Given the description of an element on the screen output the (x, y) to click on. 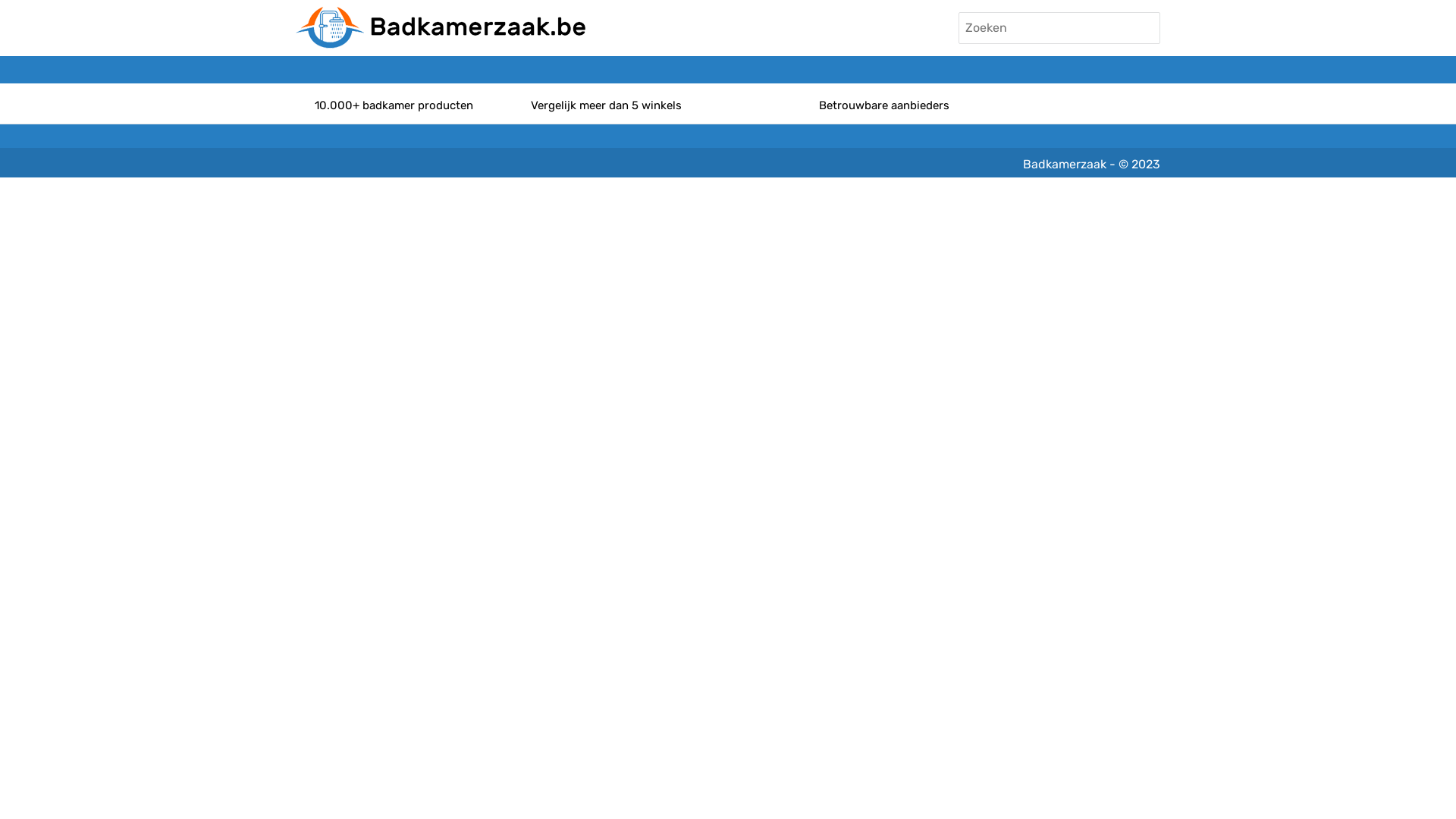
Badkamerzaak Element type: text (1064, 163)
Badkamerzaak Element type: hover (440, 27)
